Given the description of an element on the screen output the (x, y) to click on. 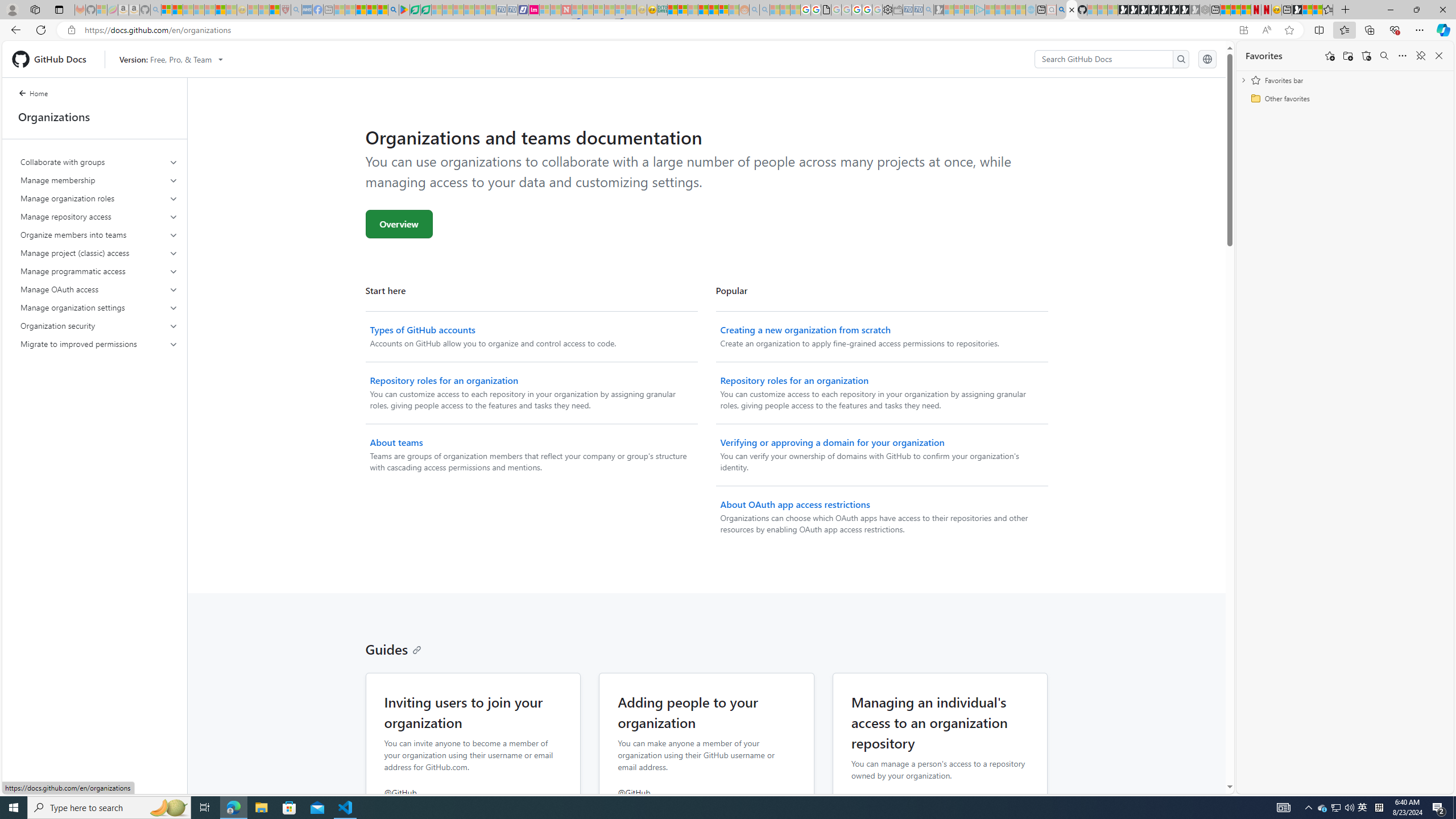
Migrate to improved permissions (99, 343)
App available. Install GitHub Docs (1243, 29)
Jobs - lastminute.com Investor Portal (534, 9)
Manage organization settings (99, 307)
